Given the description of an element on the screen output the (x, y) to click on. 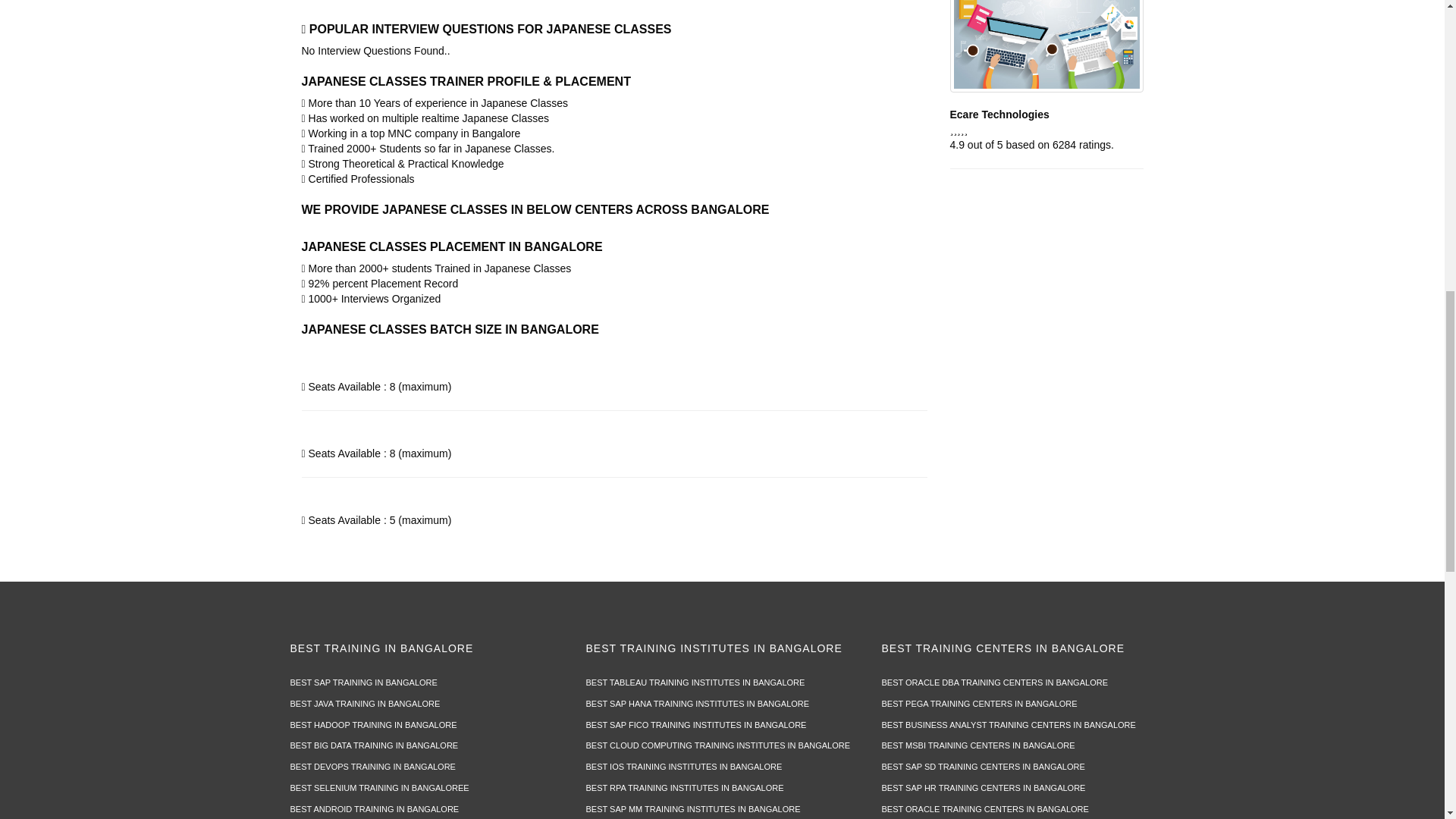
BEST JAVA TRAINING IN BANGALORE (364, 703)
BEST HADOOP TRAINING IN BANGALORE (373, 724)
BEST SAP TRAINING IN BANGALORE (362, 682)
BEST DEVOPS TRAINING IN BANGALORE (371, 766)
BEST BIG DATA TRAINING IN BANGALORE (373, 745)
Japanese Classes in Bangalore - Marathahalli (1045, 45)
BEST SELENIUM TRAINING IN BANGALOREE (378, 787)
